Given the description of an element on the screen output the (x, y) to click on. 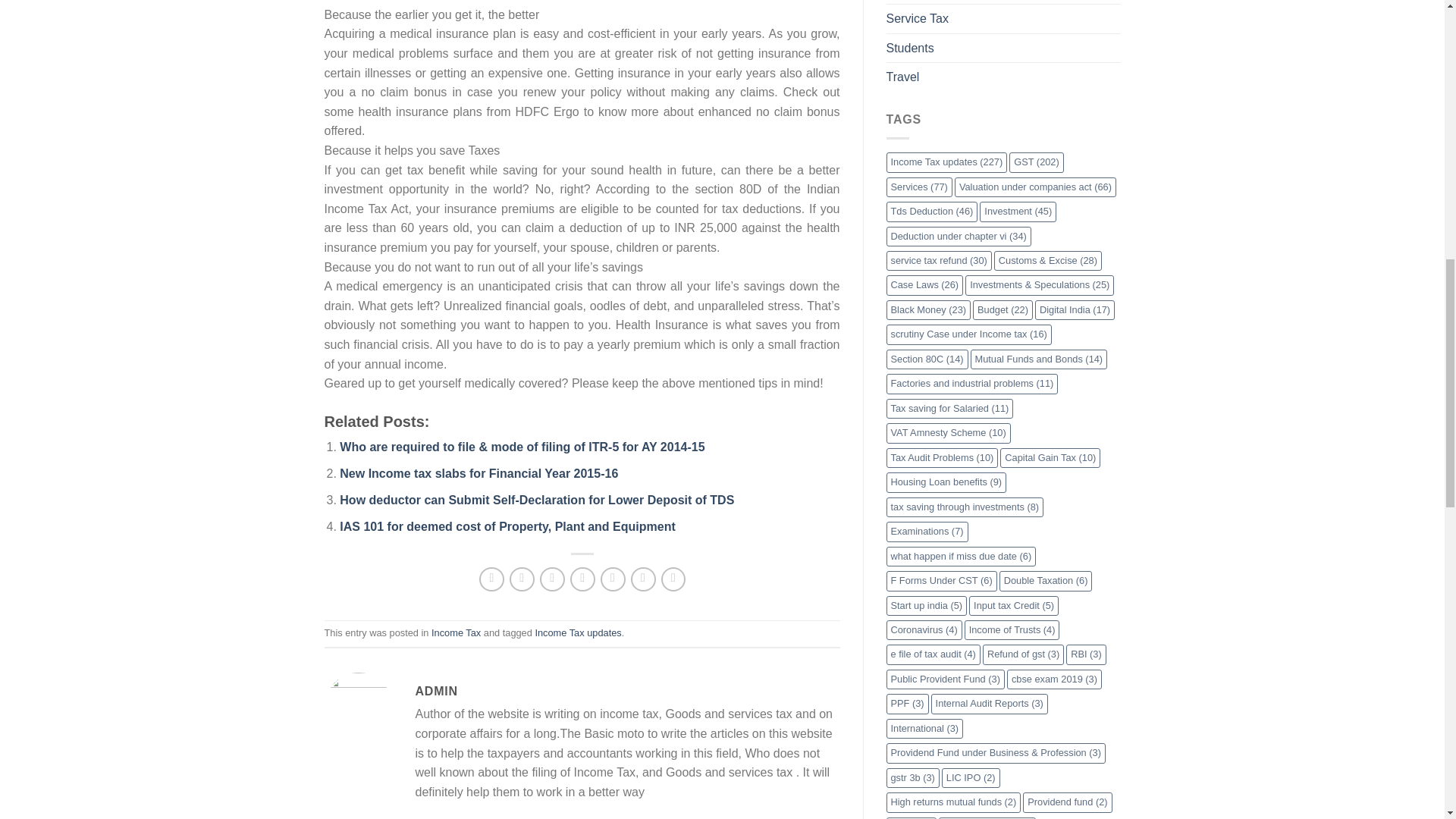
IAS 101 for deemed cost of Property, Plant and Equipment (507, 526)
New Income tax slabs for Financial Year 2015-16 (478, 472)
